Given the description of an element on the screen output the (x, y) to click on. 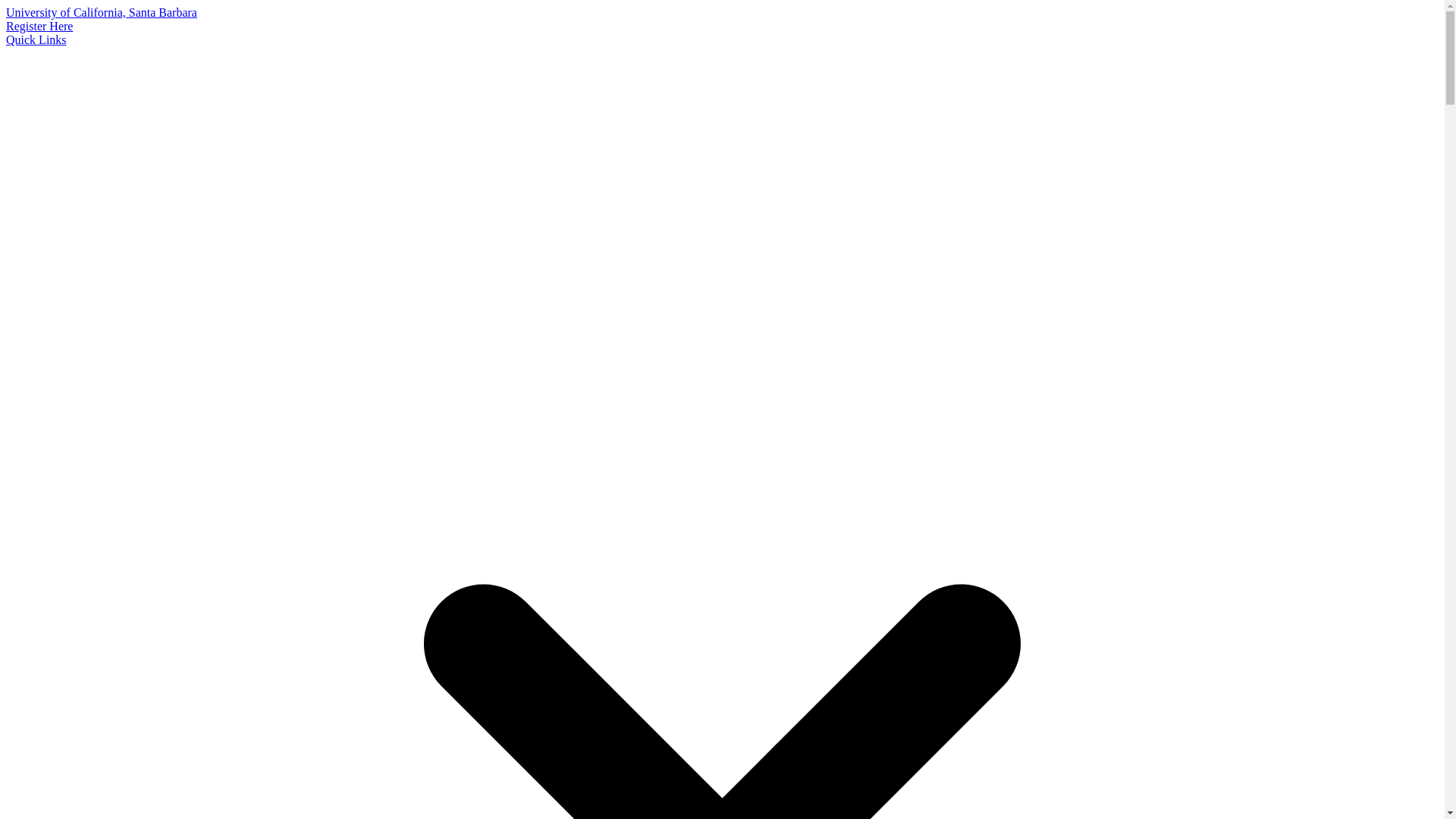
University of California, Santa Barbara (100, 11)
Quick Links (35, 39)
Register Here (38, 25)
